Given the description of an element on the screen output the (x, y) to click on. 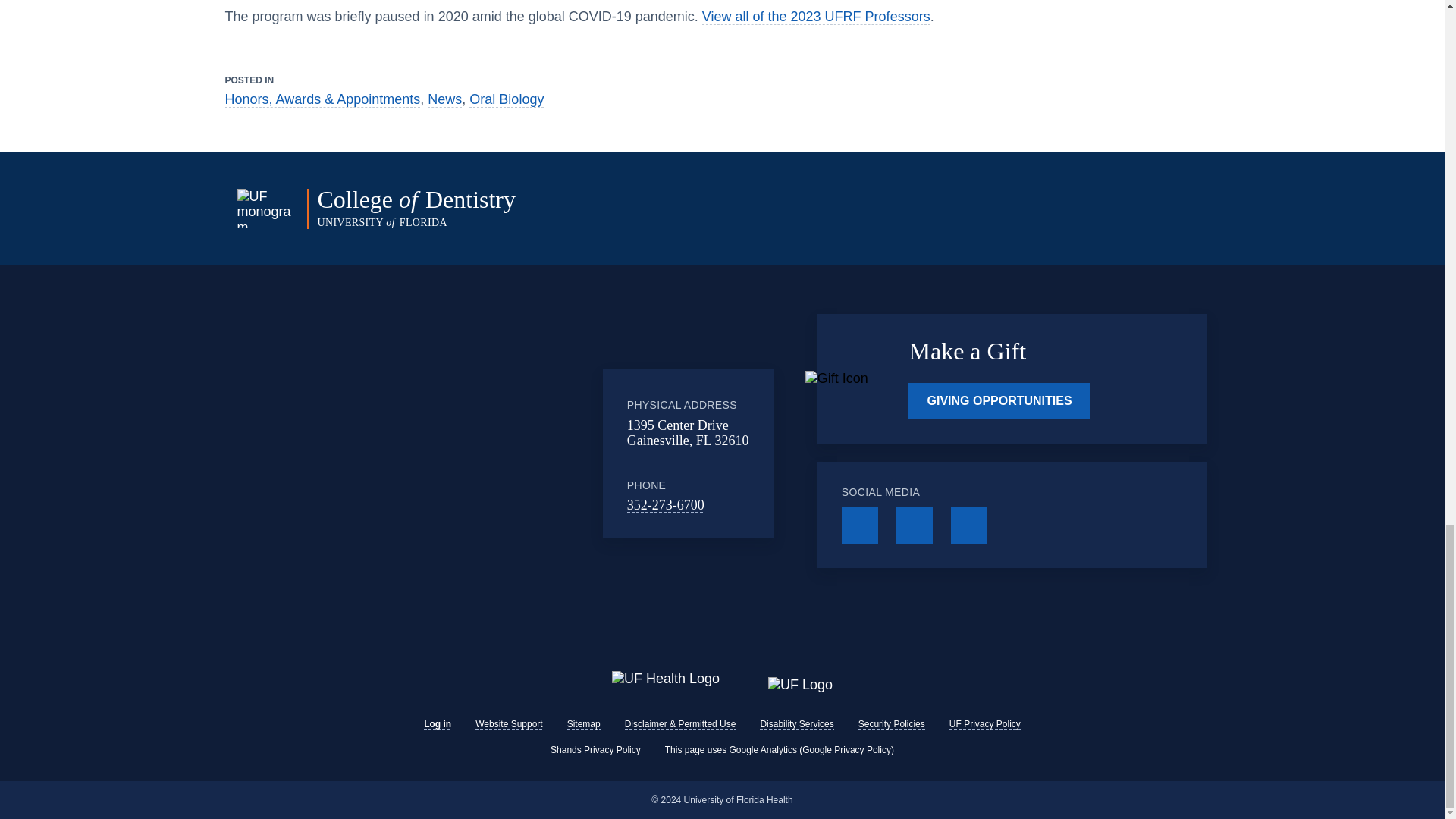
Shands Privacy Policy (595, 749)
Sitemap (583, 724)
Security Policies (891, 724)
Log in (437, 724)
352-273-6700 (665, 504)
Google Maps Embed (478, 452)
Disability Services (796, 724)
UF Privacy Policy (984, 724)
Website Support (509, 724)
